Given the description of an element on the screen output the (x, y) to click on. 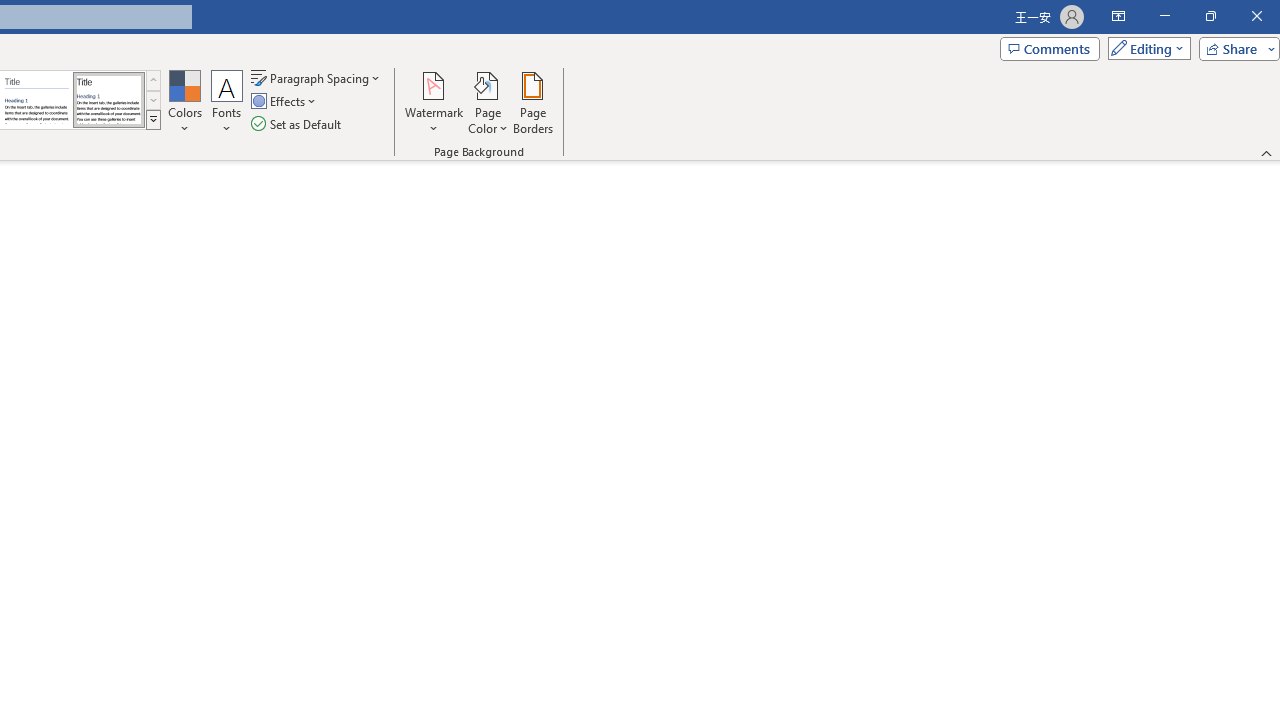
Page Color (487, 102)
Colors (184, 102)
